Given the description of an element on the screen output the (x, y) to click on. 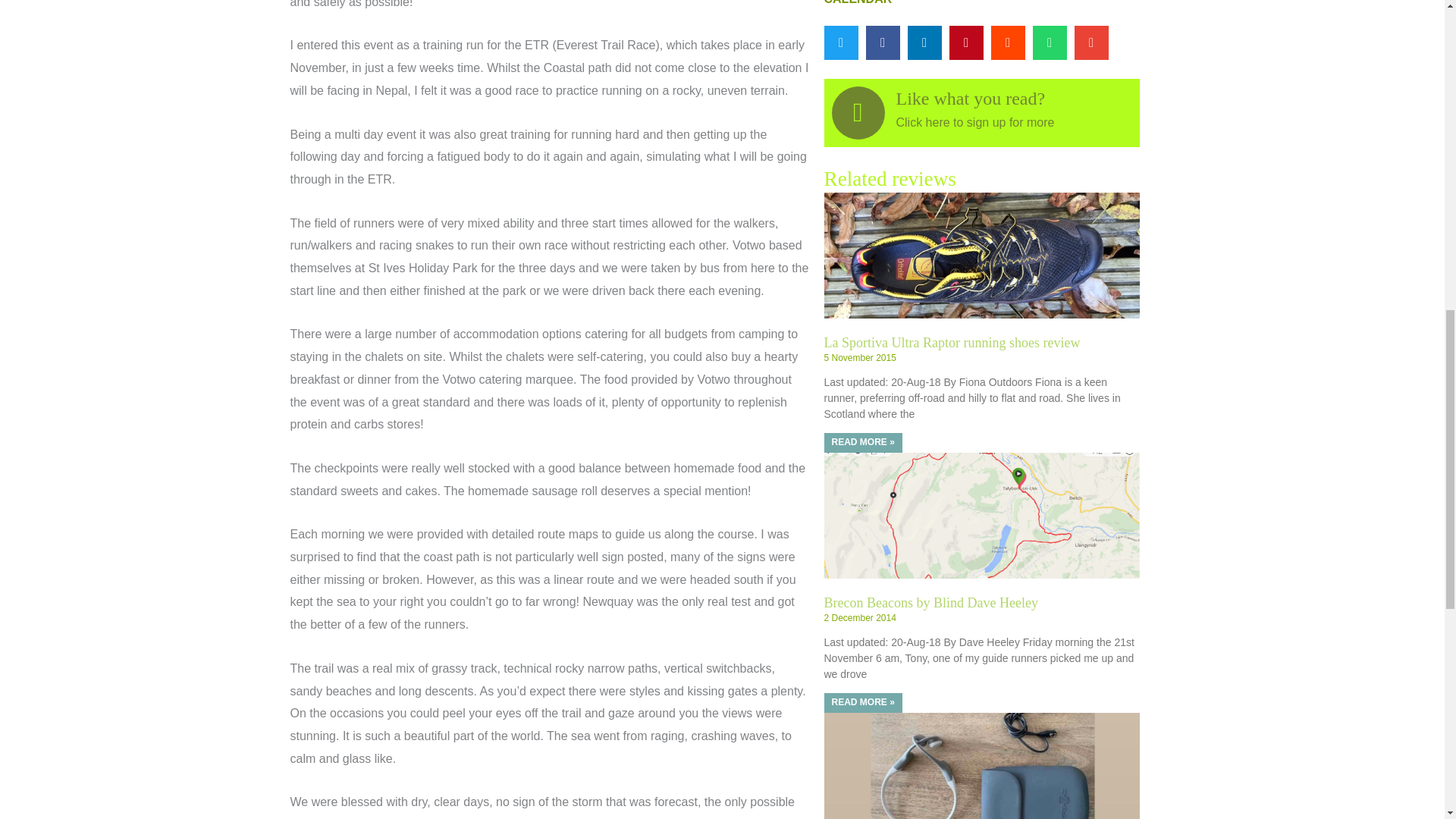
ULTRARUNNING CALENDAR (966, 2)
Brecon Beacons by Blind Dave Heeley (930, 602)
Like what you read? (970, 97)
La Sportiva Ultra Raptor running shoes review (952, 342)
